Given the description of an element on the screen output the (x, y) to click on. 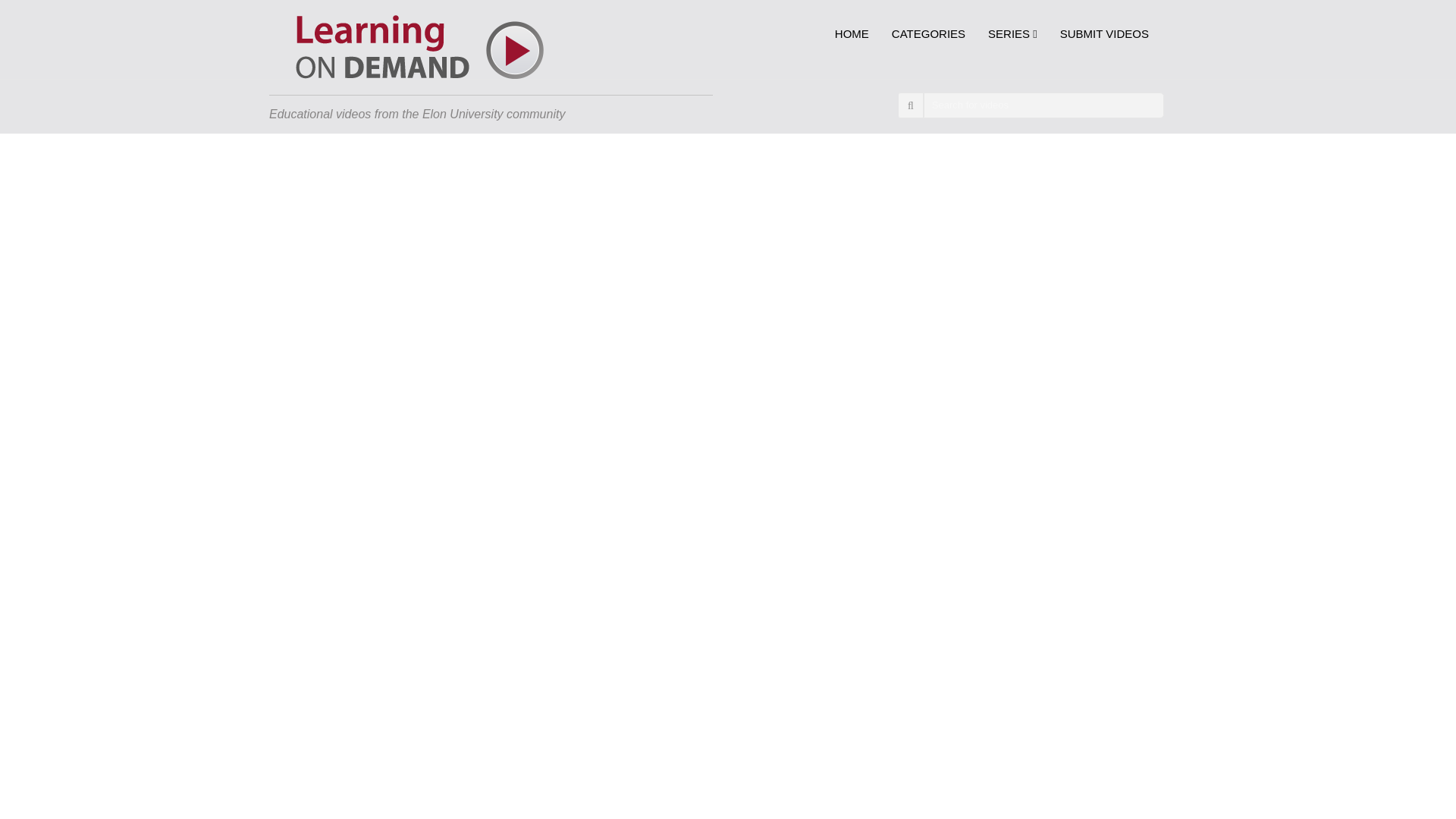
CATEGORIES (928, 34)
SERIES (1012, 34)
SUBMIT VIDEOS (1098, 34)
HOME (852, 34)
